Given the description of an element on the screen output the (x, y) to click on. 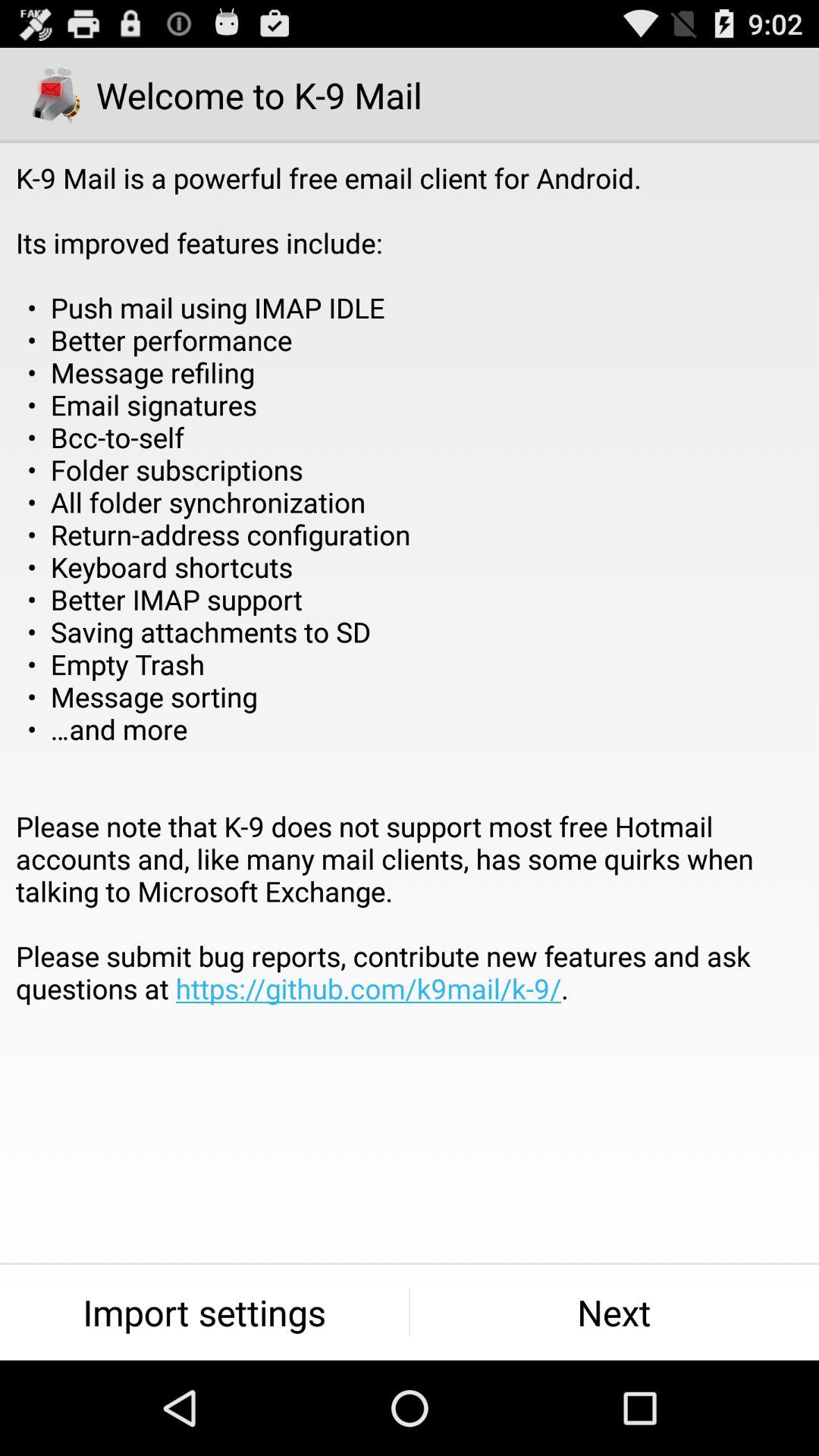
select import settings item (204, 1312)
